Given the description of an element on the screen output the (x, y) to click on. 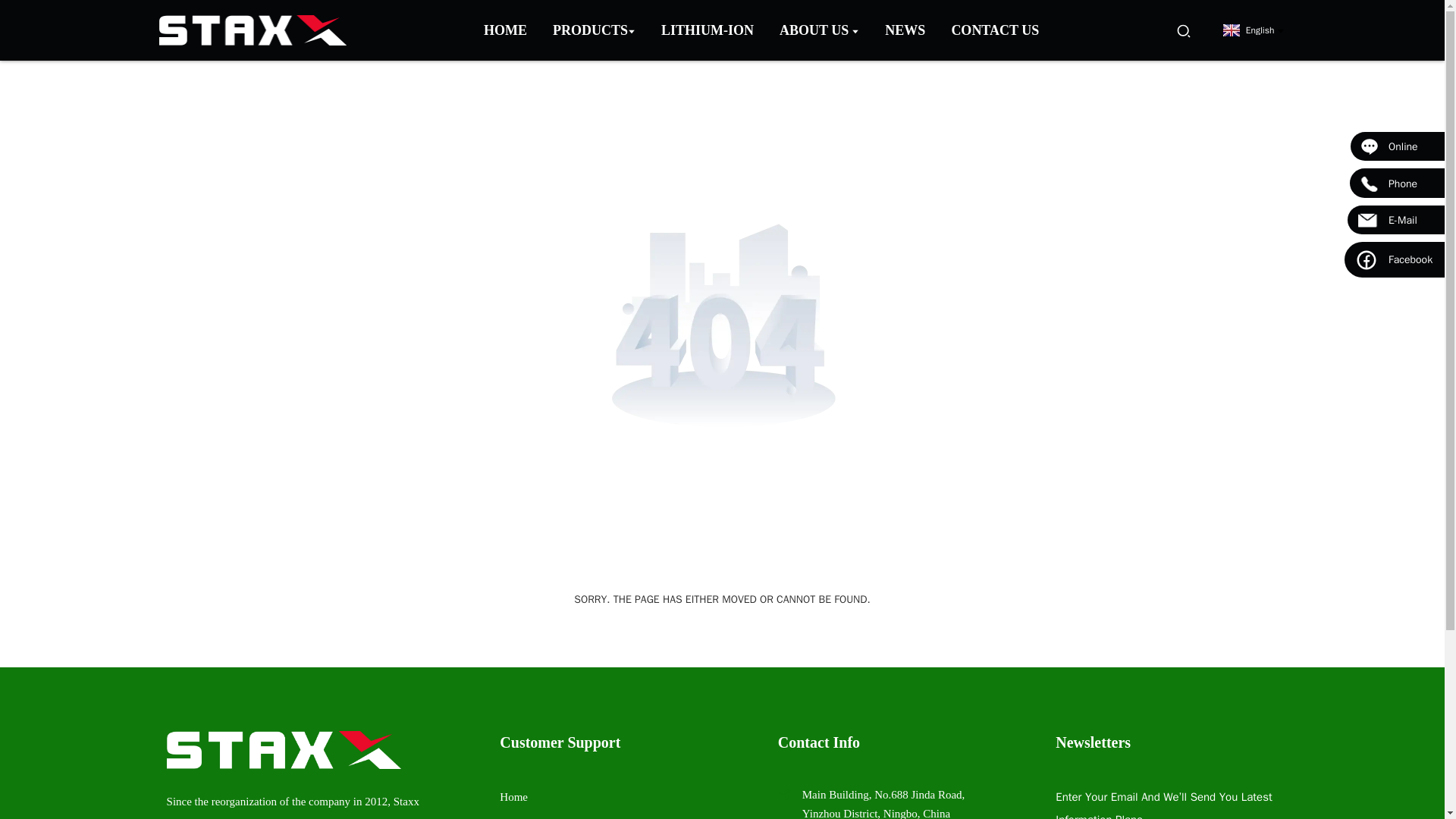
Facebook (1394, 258)
search (1183, 29)
LITHIUM-ION (707, 30)
Online (1397, 146)
Contact Us (995, 30)
HOME (504, 30)
NEWS (905, 30)
CONTACT US (995, 30)
Lithium-ion (707, 30)
Home (513, 797)
ABOUT US (818, 30)
News (905, 30)
Phone (1397, 182)
PRODUCTS (594, 30)
E-Mail (1395, 219)
